Given the description of an element on the screen output the (x, y) to click on. 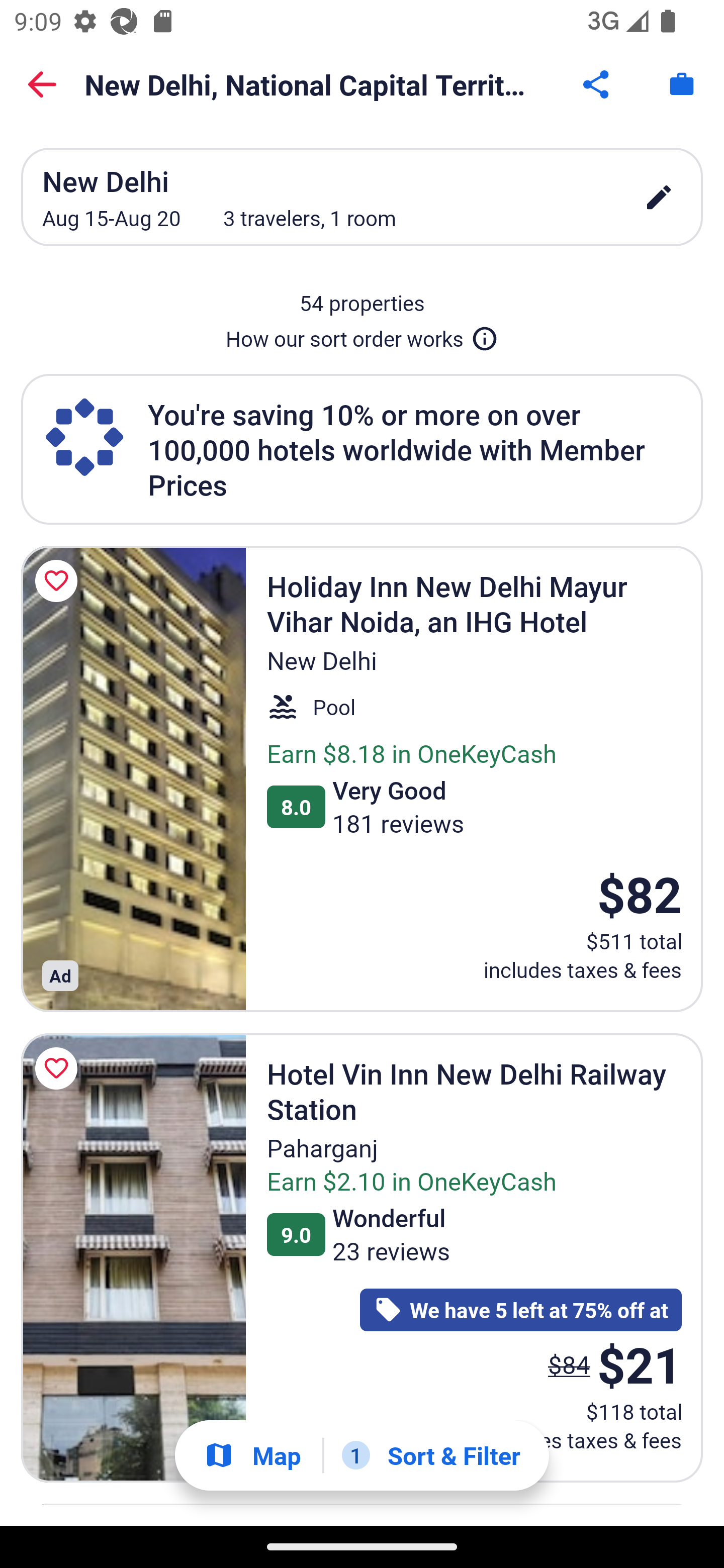
Back (42, 84)
Share Button (597, 84)
Trips. Button (681, 84)
New Delhi Aug 15-Aug 20 3 travelers, 1 room edit (361, 196)
How our sort order works (361, 334)
Hotel Vin Inn New Delhi Railway Station (133, 1258)
$84 The price was $84 (569, 1363)
1 Sort & Filter 1 Filter applied. Filters Button (430, 1455)
Show map Map Show map Button (252, 1455)
